Given the description of an element on the screen output the (x, y) to click on. 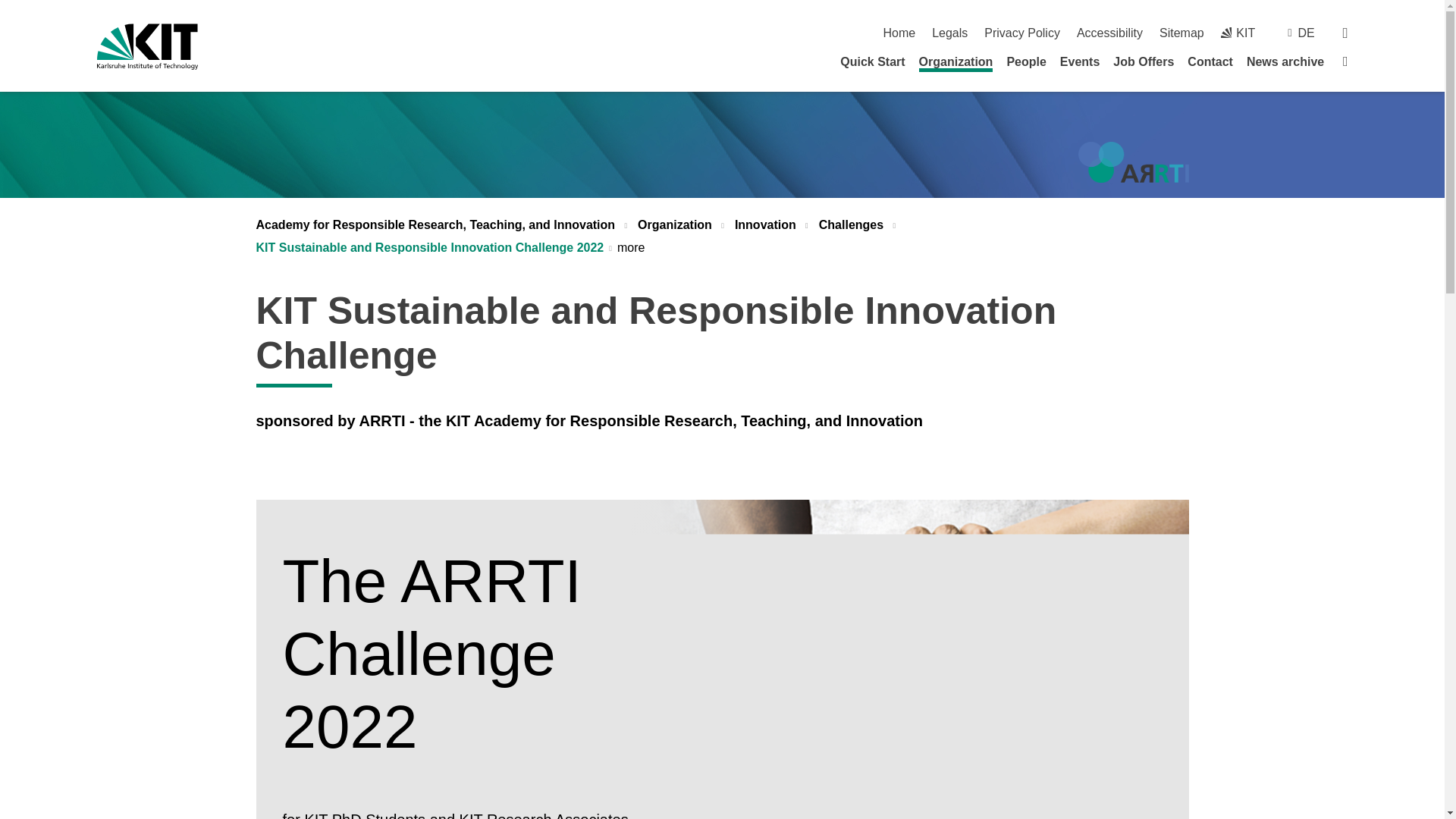
search (1345, 32)
startpage (1345, 61)
KIT (1238, 32)
Accessibility (1109, 32)
Home (898, 32)
Legals (949, 32)
Sitemap (1181, 32)
KIT-Homepage (1238, 32)
Organization (955, 63)
KIT-Homepage (147, 46)
startpage (898, 32)
Privacy Policy (1021, 32)
search (1345, 32)
DE (1305, 32)
